Given the description of an element on the screen output the (x, y) to click on. 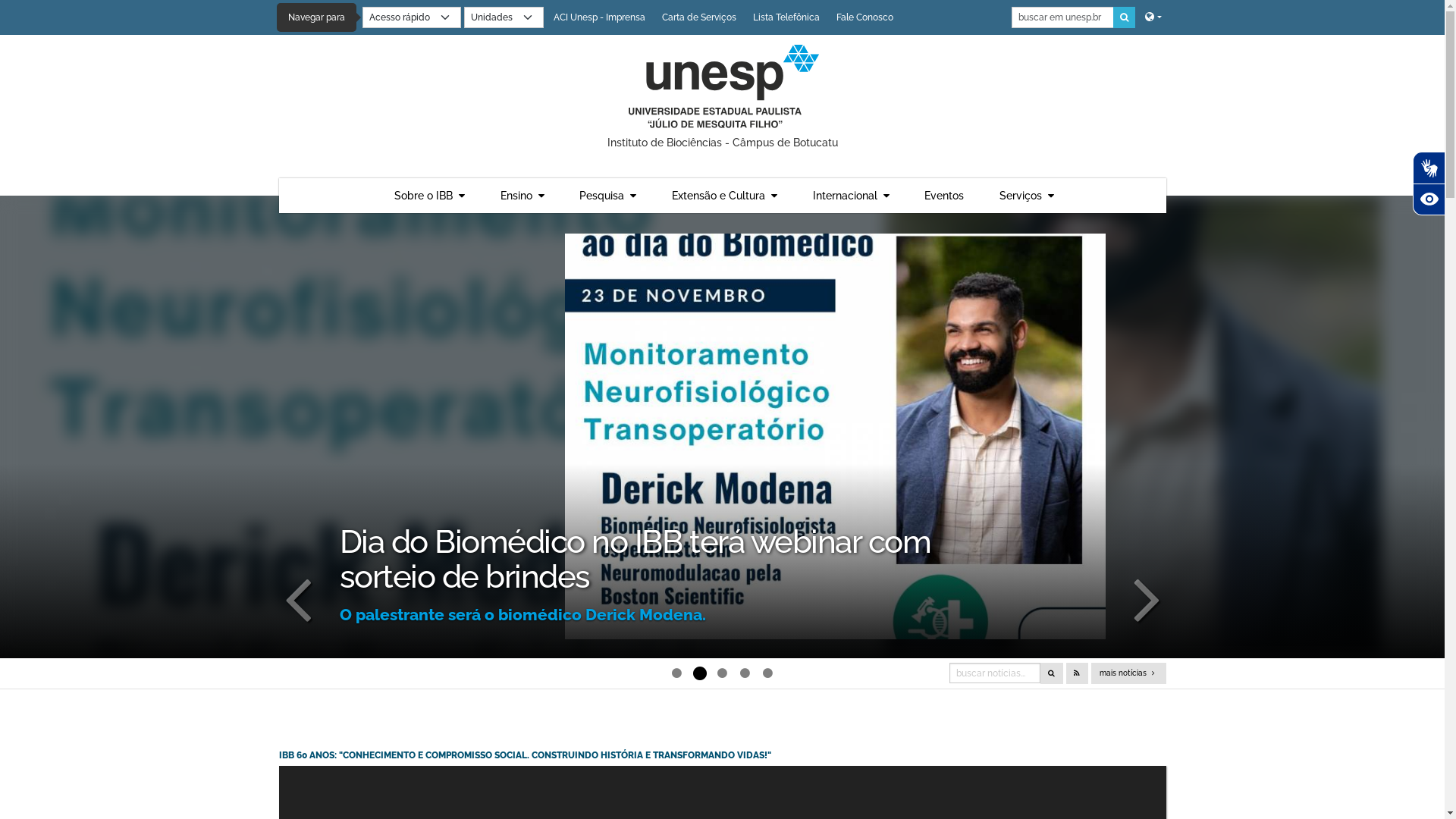
Fale Conosco Element type: text (864, 17)
ACI Unesp - Imprensa Element type: text (598, 17)
Selecione o idioma Element type: text (1152, 17)
Sobre o IBB Element type: text (429, 195)
Buscar Element type: text (1124, 17)
Buscar em unesp.br Element type: hover (1062, 17)
Ir para o item anterior Element type: text (297, 597)
Pesquisa Element type: text (608, 195)
Eventos Element type: text (943, 195)
Internacional Element type: text (851, 195)
Feed de RSS Element type: text (1077, 673)
Ensino Element type: text (522, 195)
